Given the description of an element on the screen output the (x, y) to click on. 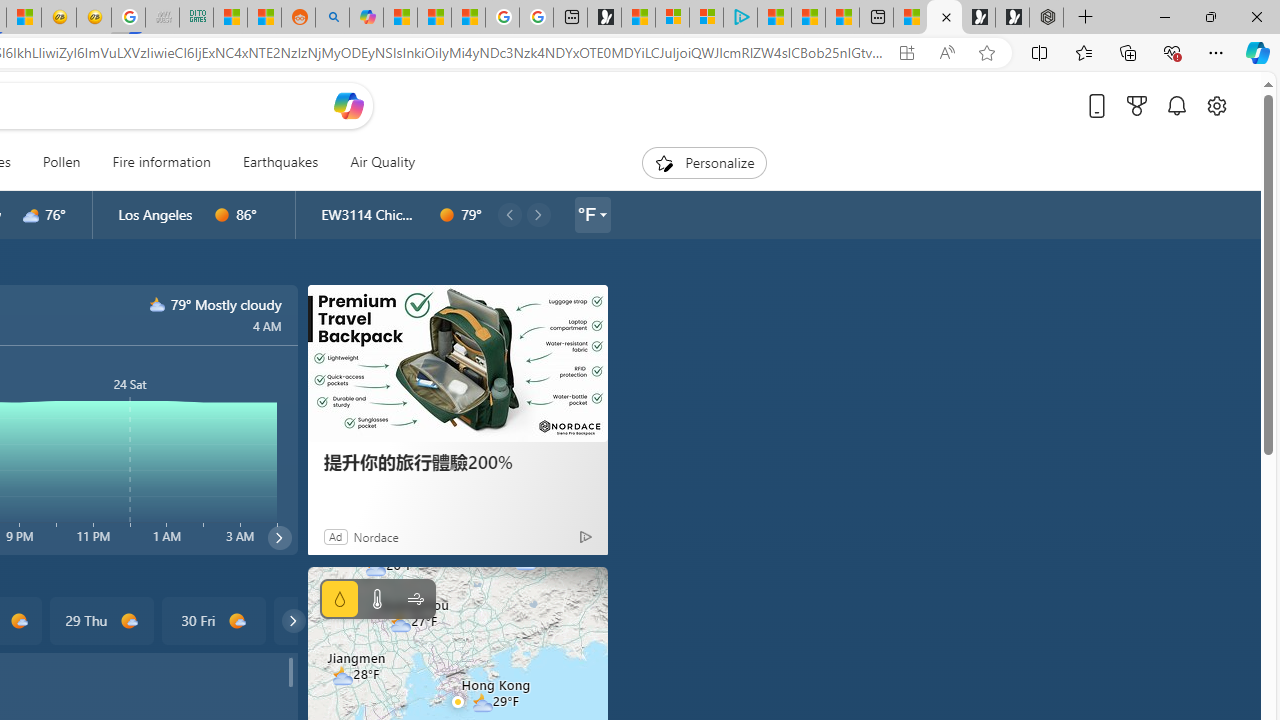
Temperature (376, 599)
common/carouselChevron (293, 620)
common/carouselChevron (293, 620)
31 Sat d1000 (324, 620)
